Given the description of an element on the screen output the (x, y) to click on. 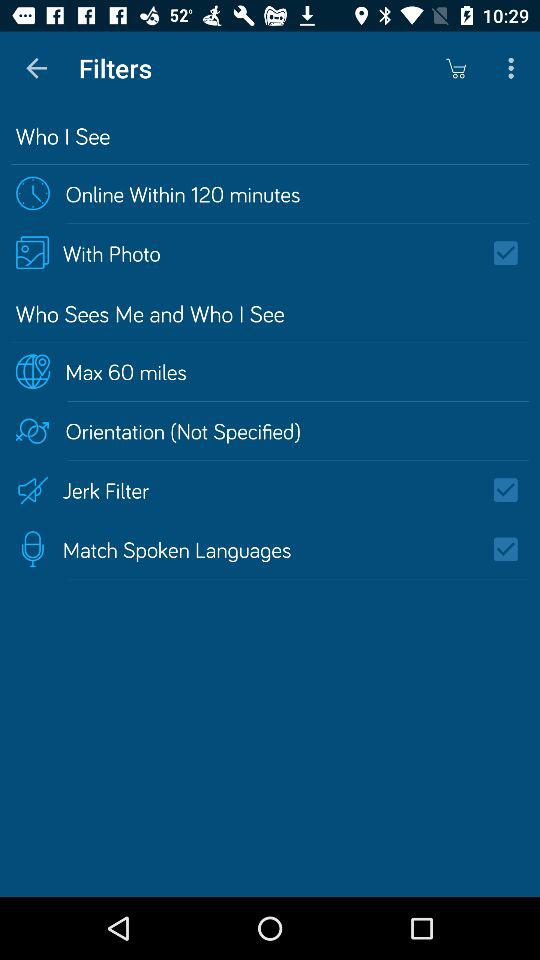
show other photos (512, 253)
